Given the description of an element on the screen output the (x, y) to click on. 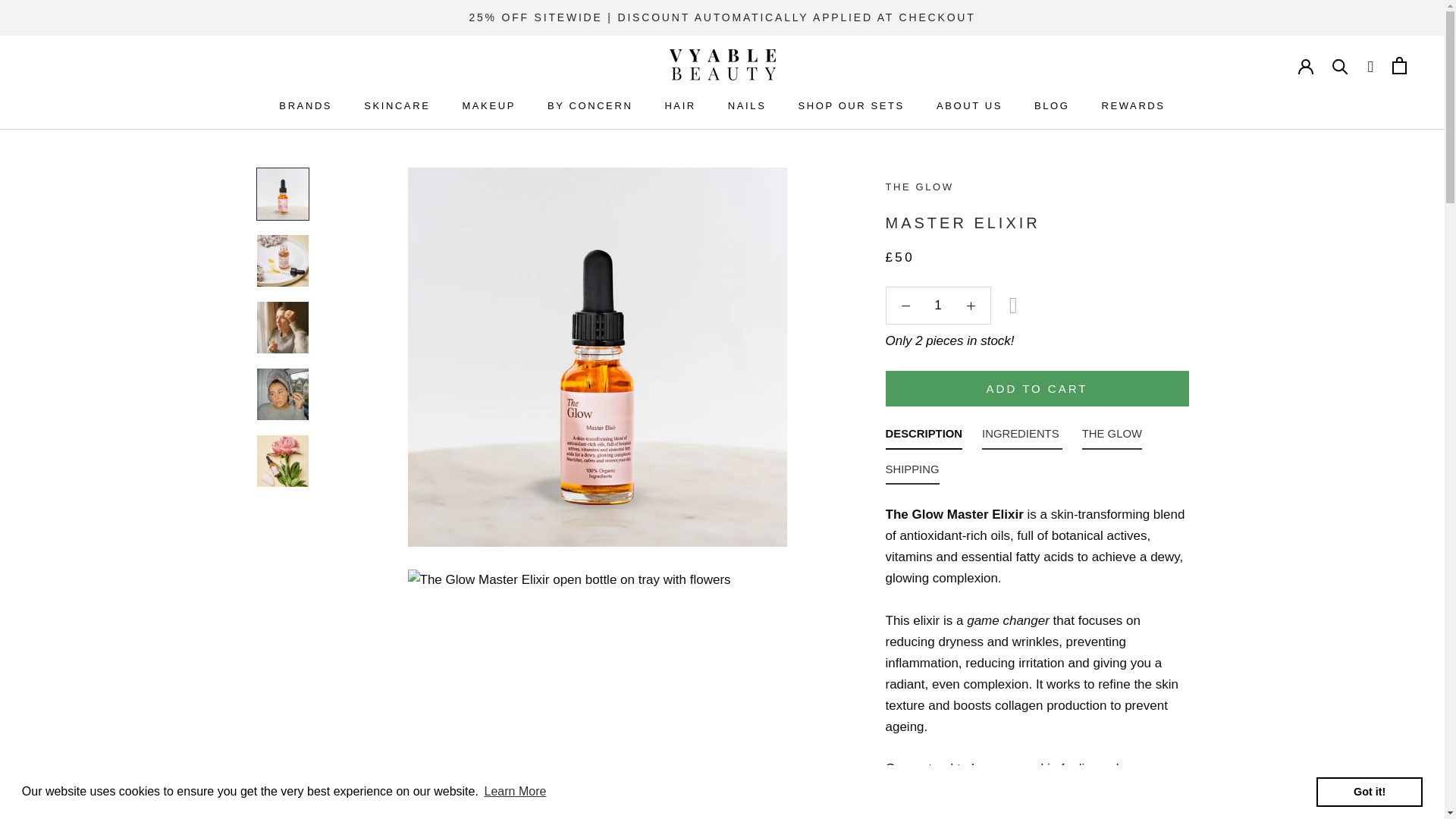
Got it! (1369, 791)
1 (938, 305)
Learn More (514, 791)
